Given the description of an element on the screen output the (x, y) to click on. 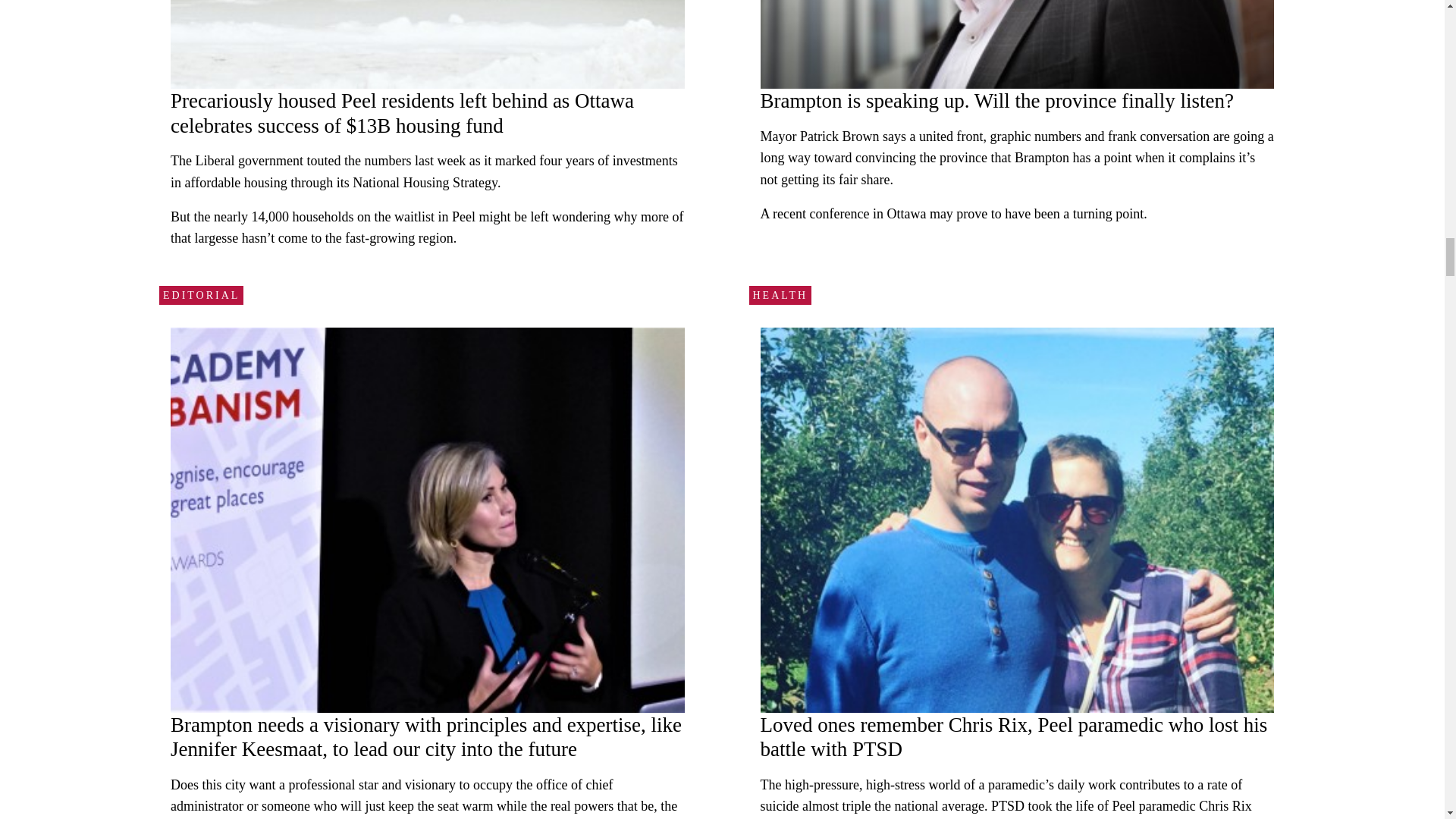
Brampton is speaking up. Will the province finally listen? (996, 100)
